Given the description of an element on the screen output the (x, y) to click on. 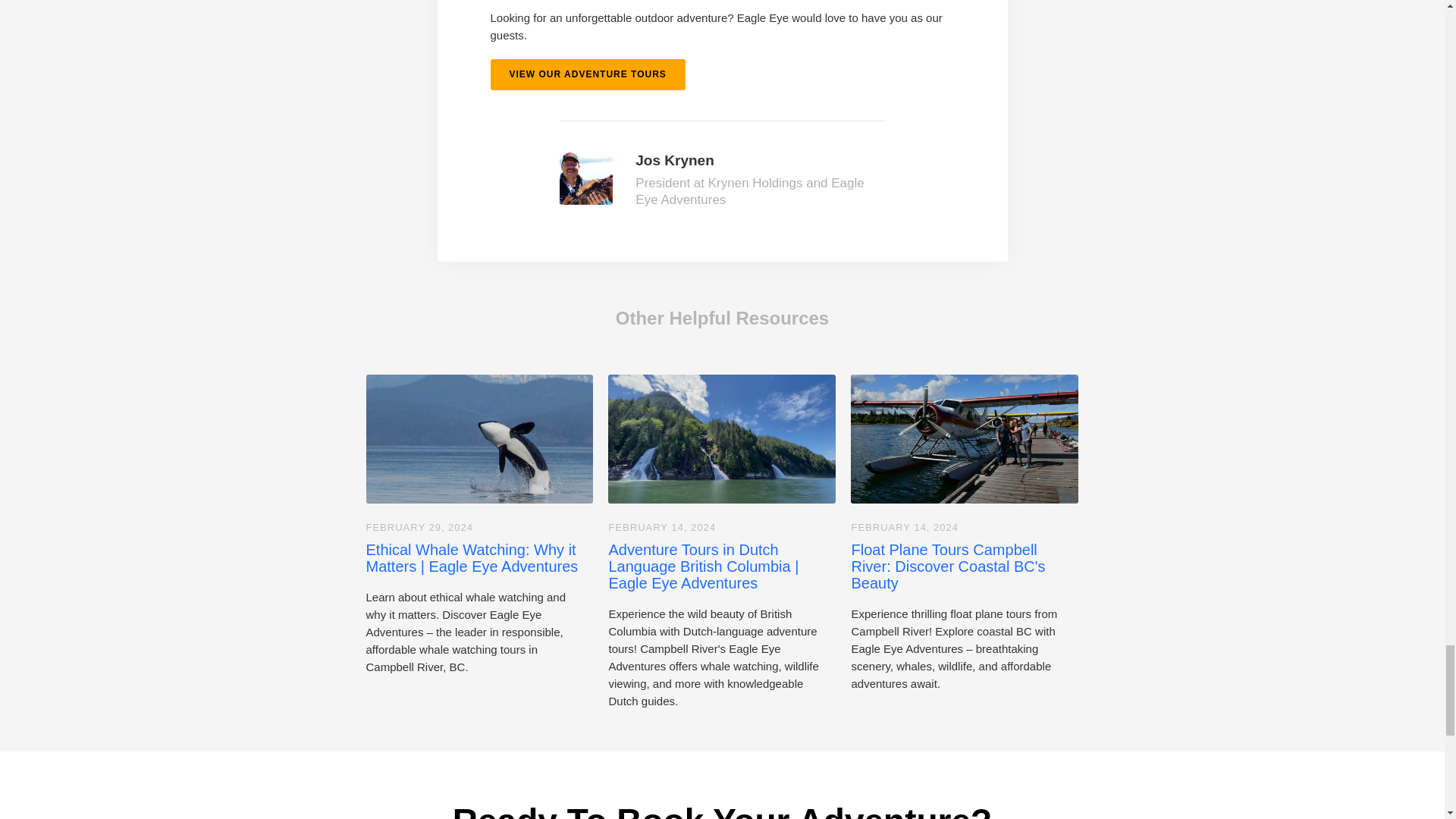
VIEW OUR ADVENTURE TOURS (586, 74)
